Given the description of an element on the screen output the (x, y) to click on. 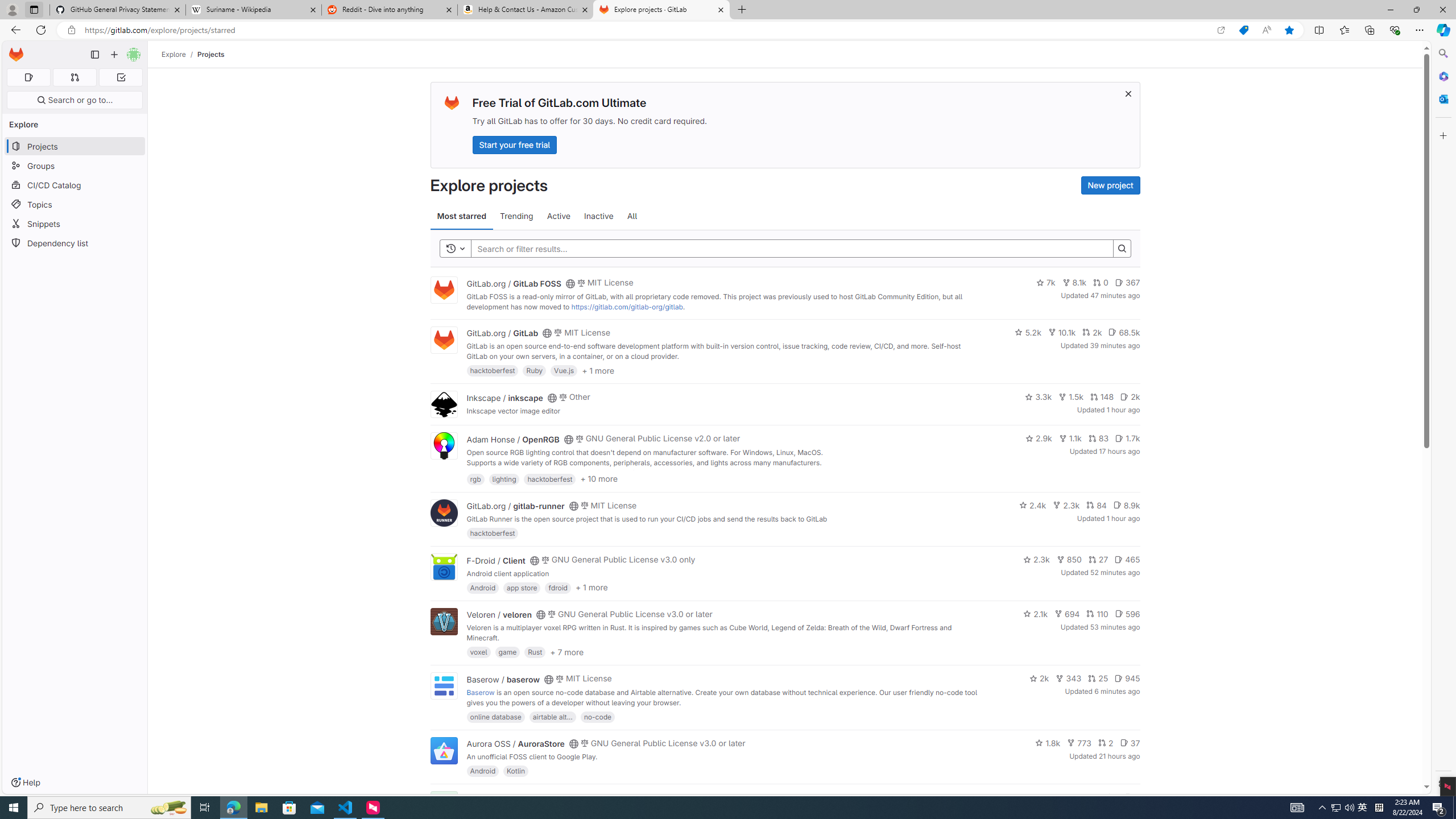
Aurora OSS / AuroraStore (514, 743)
Projects (211, 53)
Toggle history (455, 248)
148 (1101, 396)
773 (1079, 742)
airtable alt... (552, 715)
Primary navigation sidebar (94, 54)
Suriname - Wikipedia (253, 9)
7k (1045, 282)
3.3k (1038, 396)
1.4k (1054, 797)
850 (1068, 559)
